Given the description of an element on the screen output the (x, y) to click on. 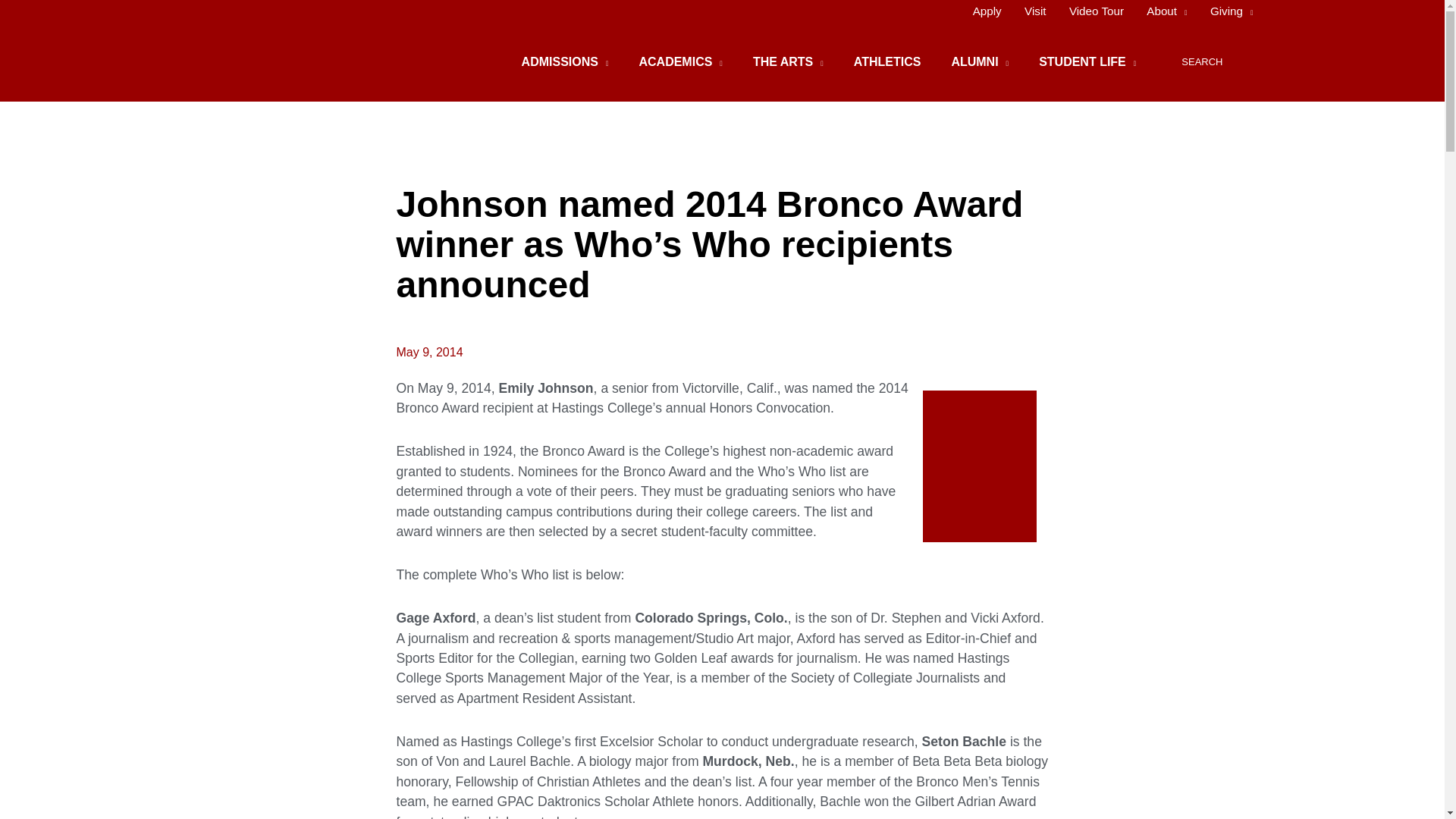
ADMISSIONS (565, 61)
About (1166, 11)
Visit (1035, 11)
Video Tour (1096, 11)
Giving (1225, 11)
Apply (986, 11)
